Given the description of an element on the screen output the (x, y) to click on. 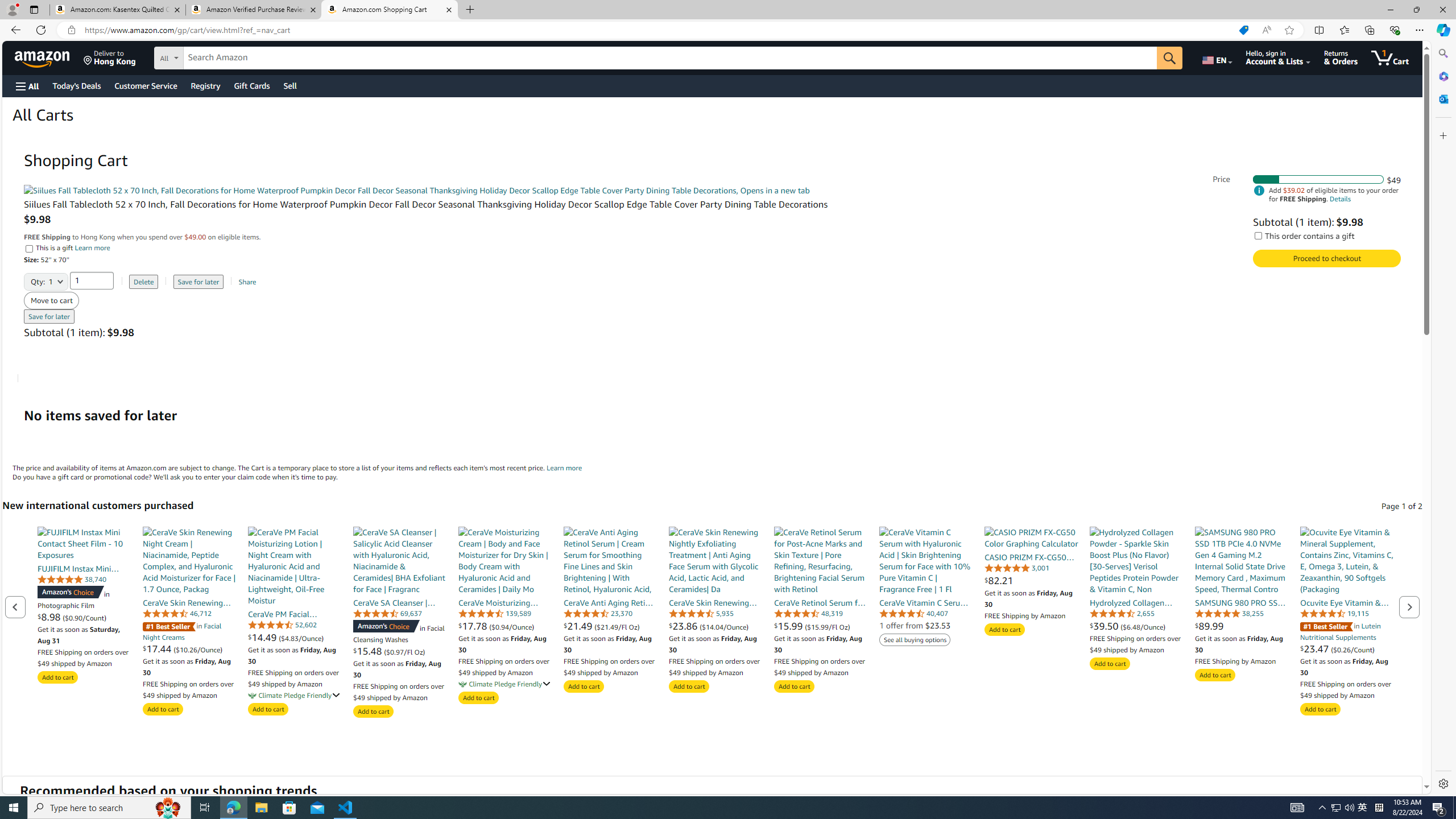
($10.26/Ounce) (197, 648)
$89.99 (1241, 625)
Amazon (43, 57)
Shopping Cart Learn more (564, 466)
Skip to main content (48, 56)
